Given the description of an element on the screen output the (x, y) to click on. 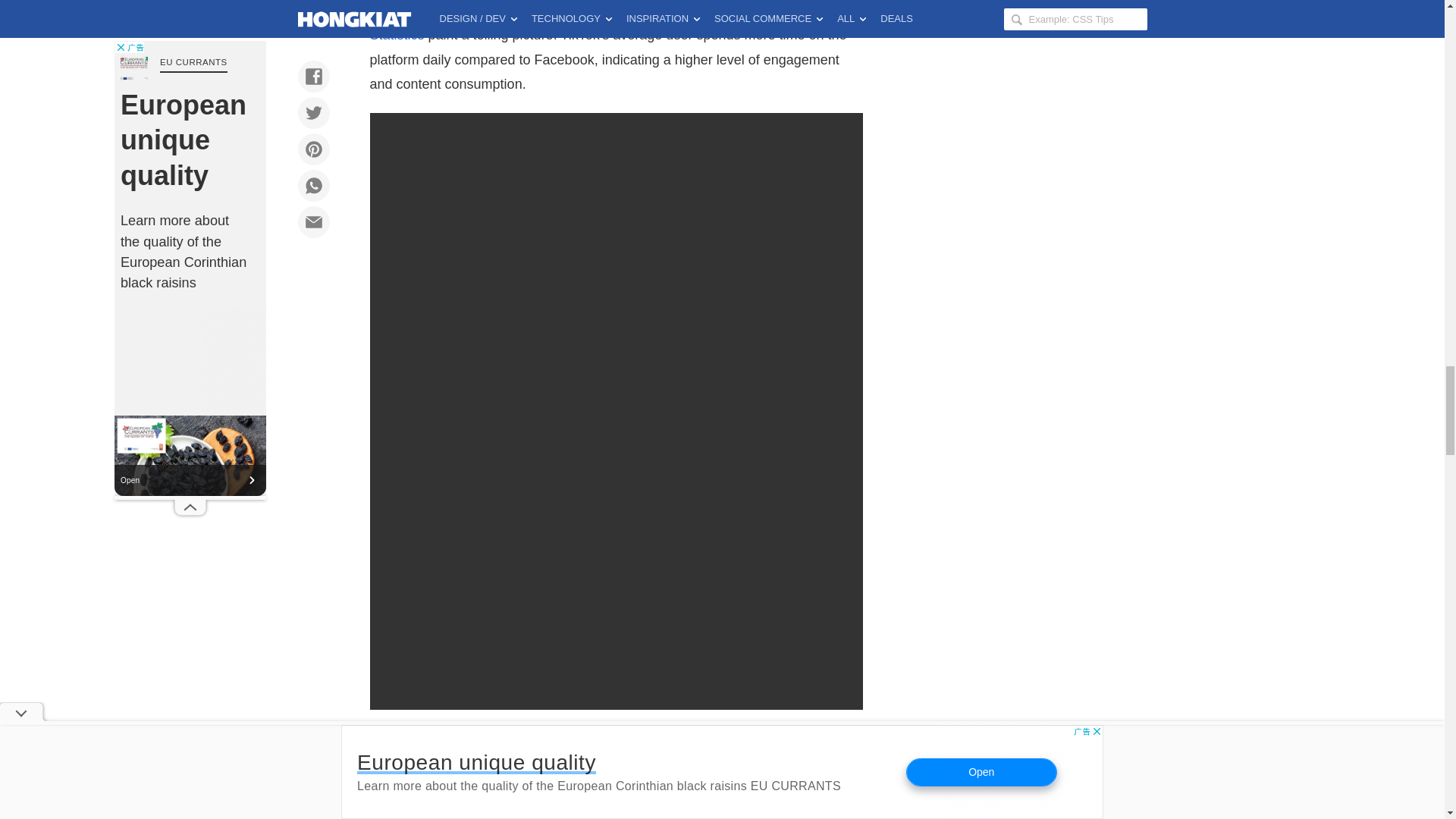
Statistics (397, 34)
